Given the description of an element on the screen output the (x, y) to click on. 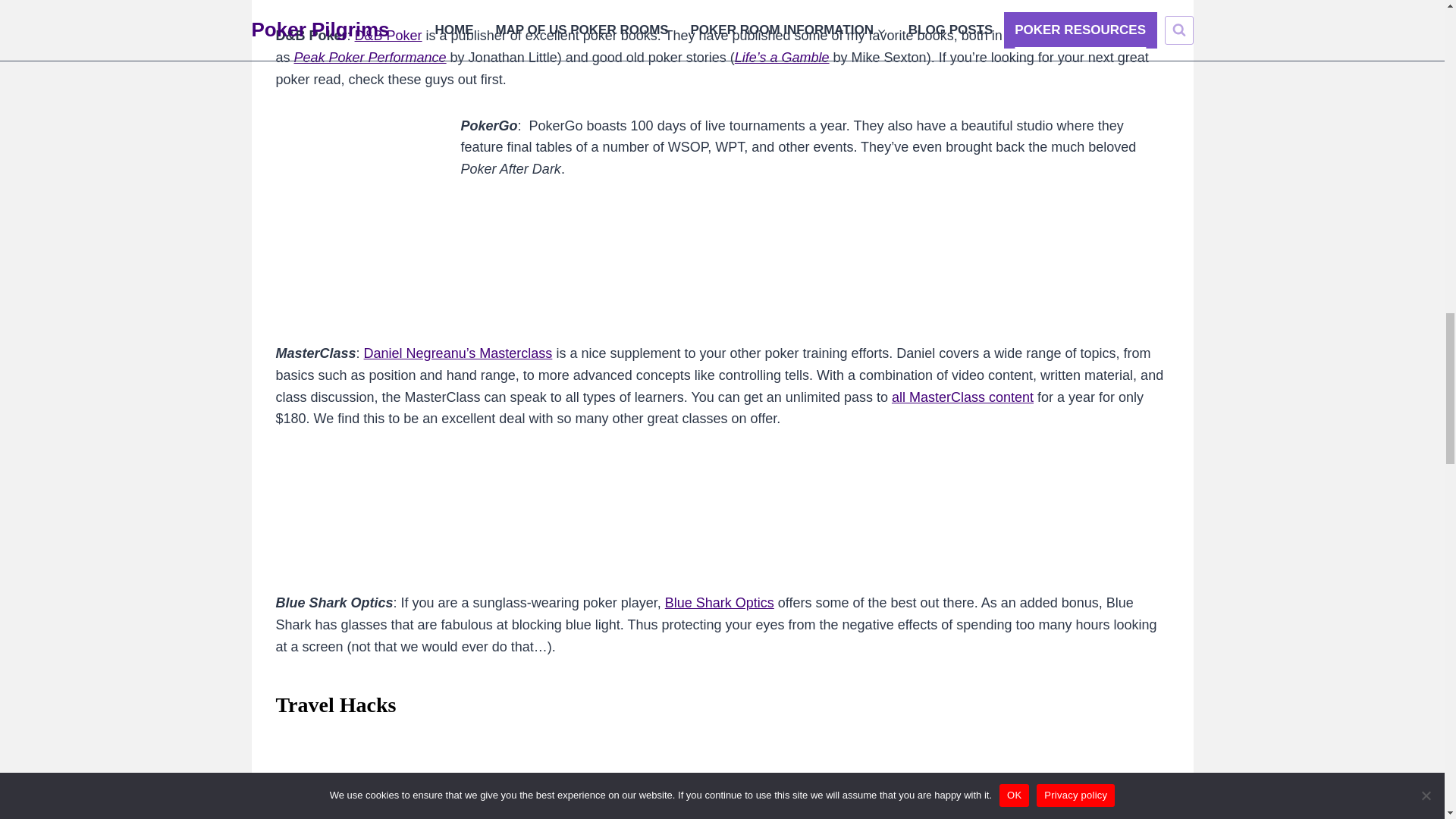
Trusted Housesitters (713, 806)
Blue Shark Optics (719, 602)
Peak Poker Performance (370, 57)
all MasterClass content (962, 396)
